Given the description of an element on the screen output the (x, y) to click on. 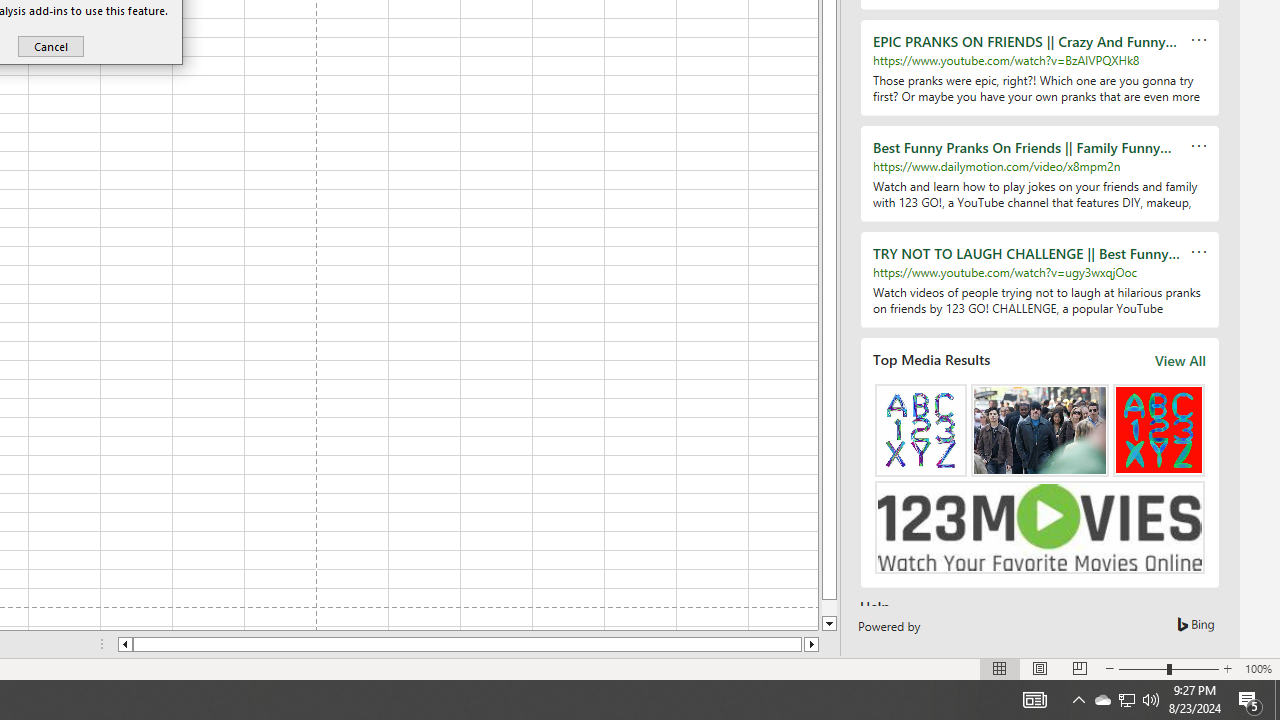
AutomationID: 4105 (1034, 699)
Q2790: 100% (1126, 699)
